Given the description of an element on the screen output the (x, y) to click on. 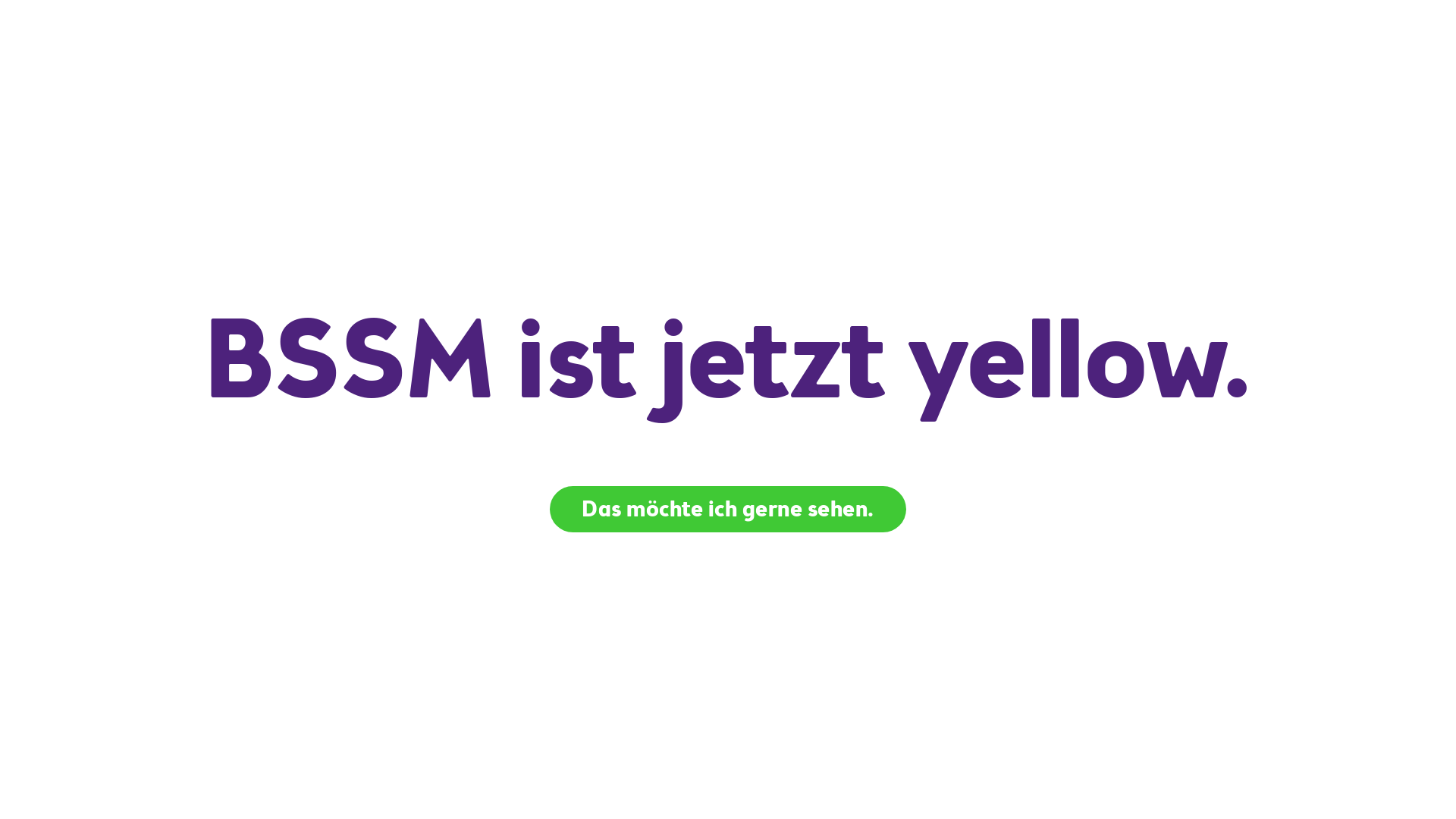
Was habe ich davon? Element type: text (254, 594)
BLOG Element type: text (1270, 460)
